Given the description of an element on the screen output the (x, y) to click on. 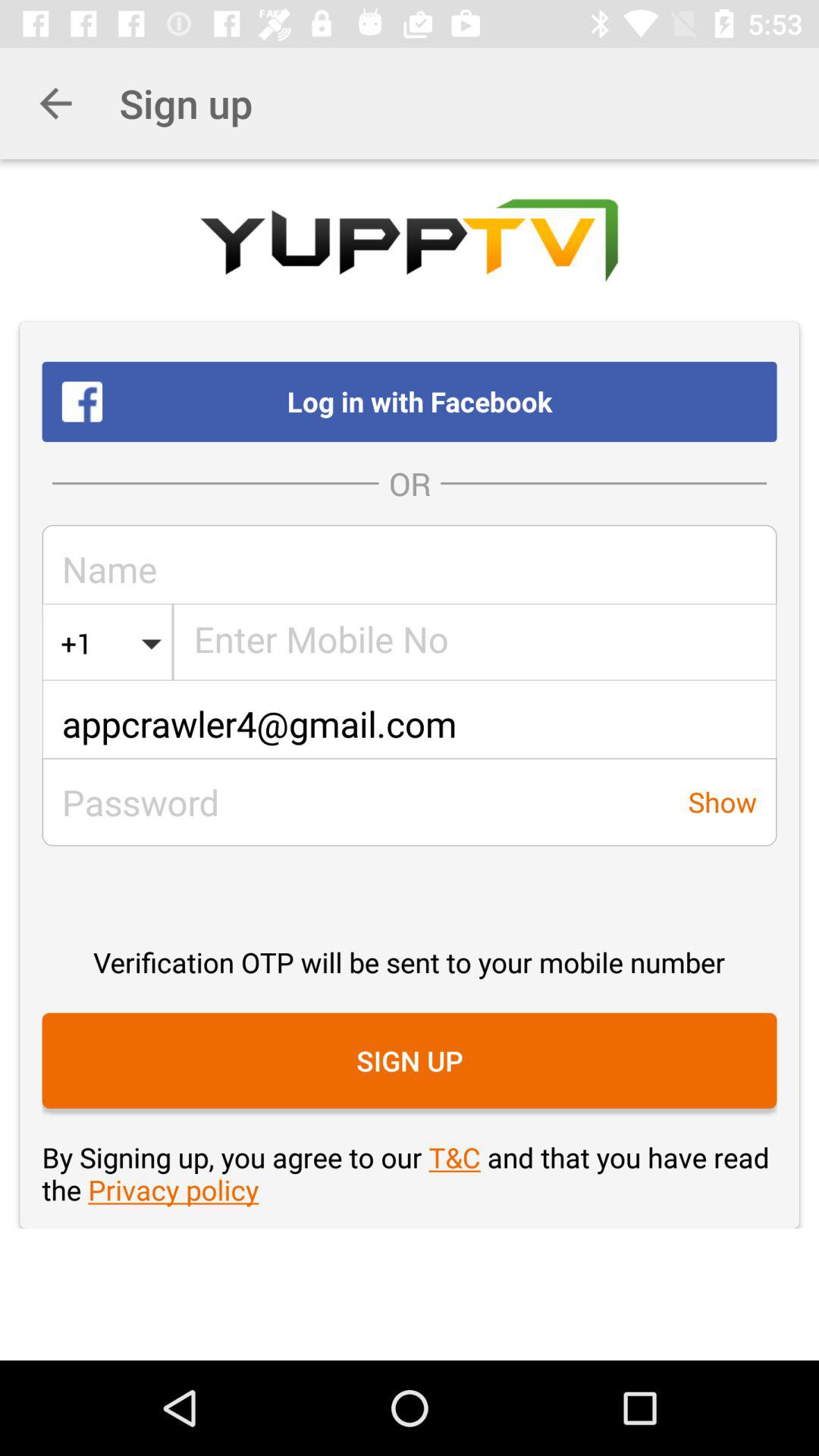
press the icon above the log in with icon (55, 103)
